Given the description of an element on the screen output the (x, y) to click on. 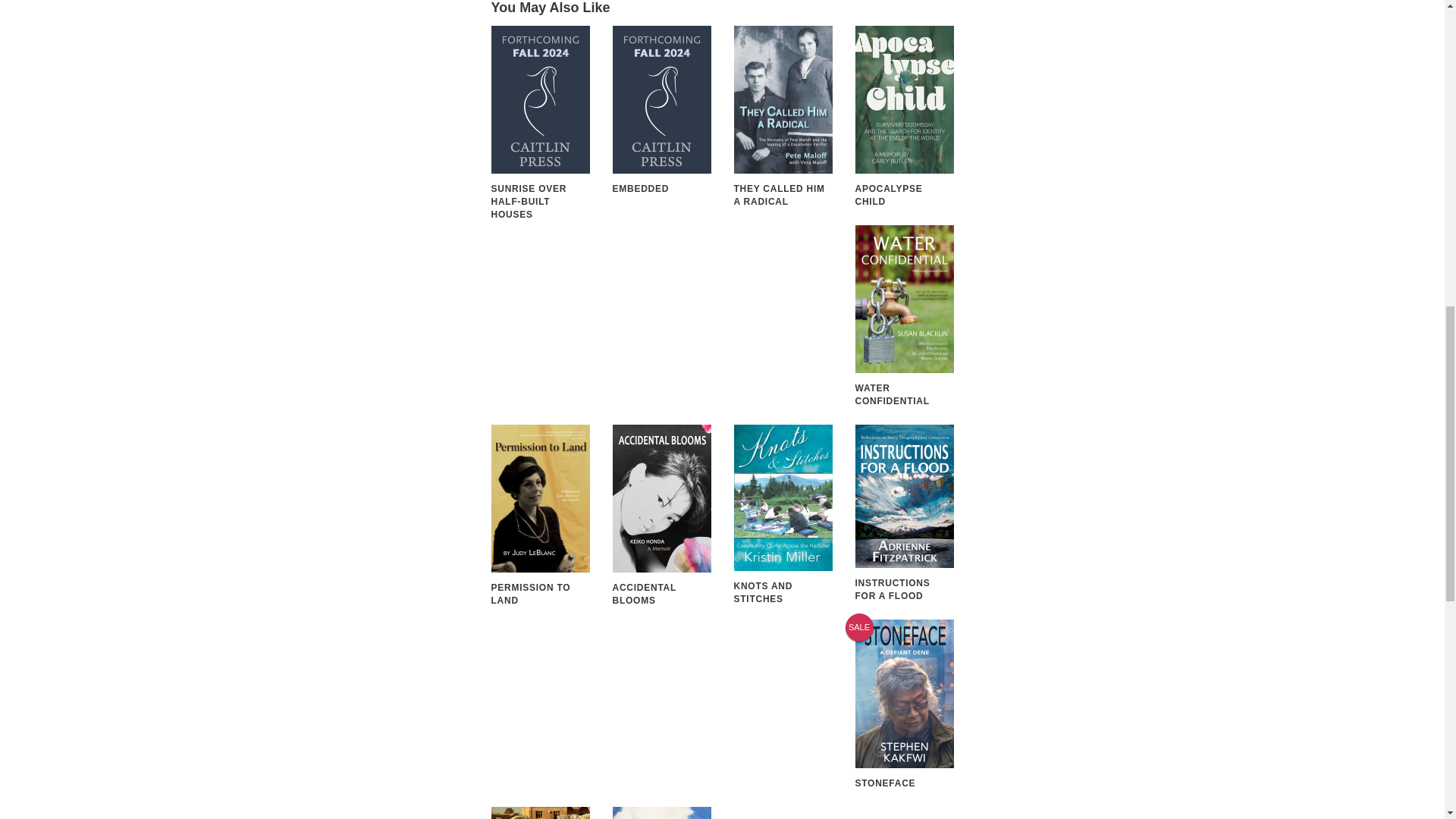
View Apocalypse Child (904, 116)
View Knots and Stitches (782, 515)
View Embedded (661, 110)
View Stoneface (904, 704)
View Accidental Blooms (661, 516)
View Instructions for a Flood (904, 513)
View Permission to Land (540, 516)
View Sunrise Over Half-Built Houses (540, 123)
View They Called Him a Radical (782, 117)
View Hand on My Heart (540, 812)
View Water Confidential (904, 315)
